Given the description of an element on the screen output the (x, y) to click on. 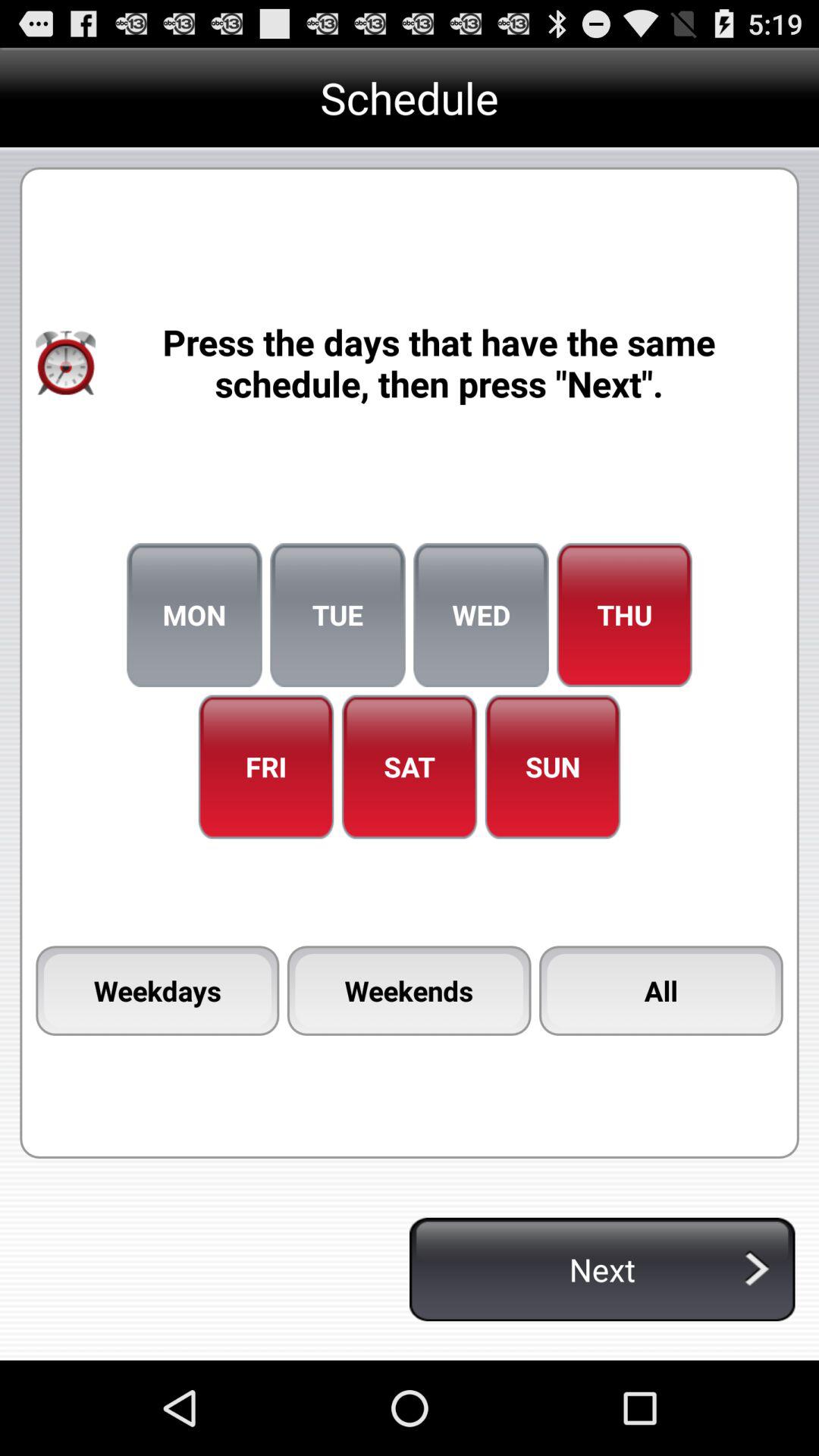
turn on sun icon (552, 766)
